Given the description of an element on the screen output the (x, y) to click on. 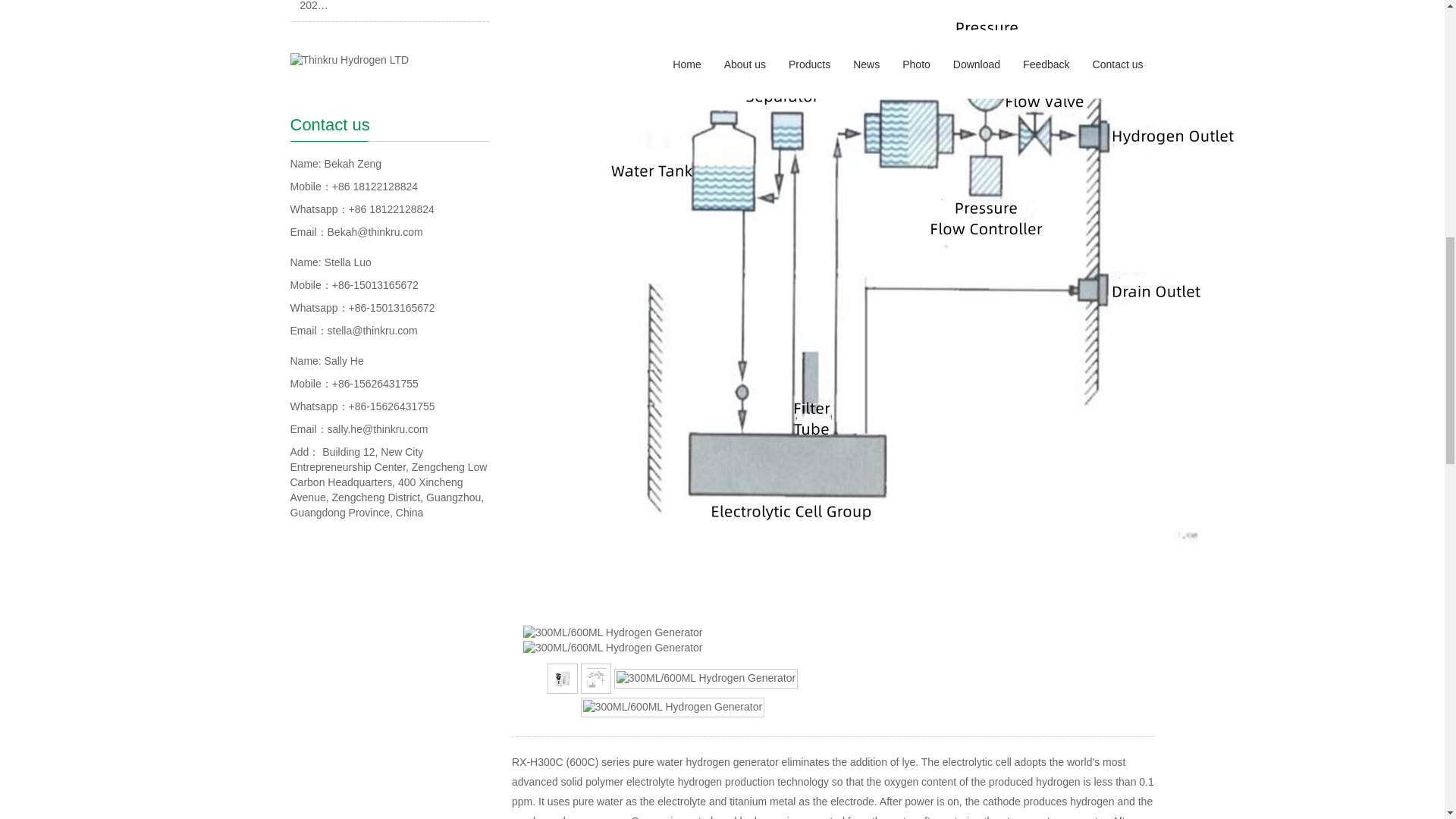
Hydrogen Technology Expo Europe 2023 (383, 5)
